Given the description of an element on the screen output the (x, y) to click on. 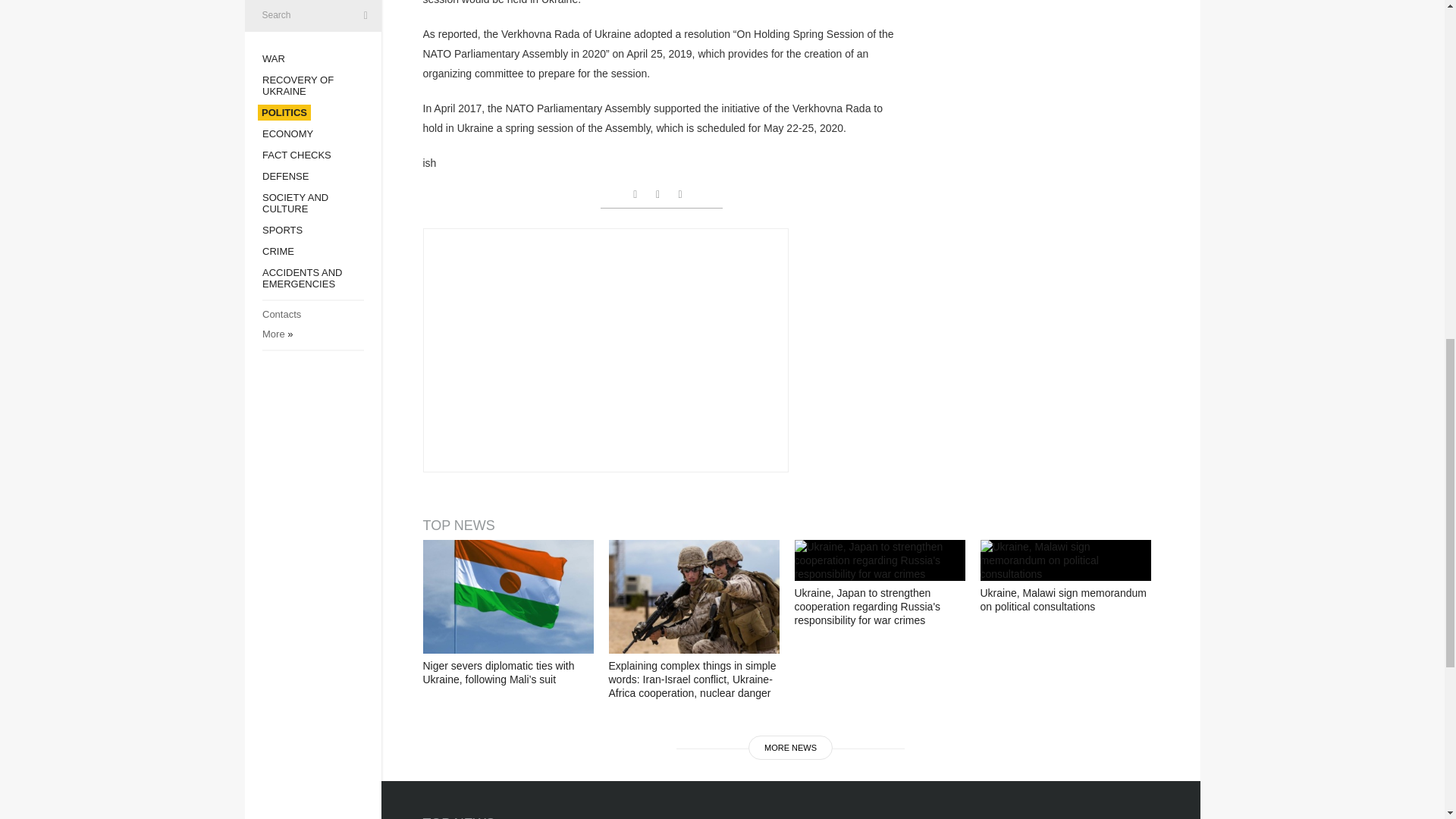
Ukraine, Malawi sign memorandum on political consultations (1064, 559)
